Given the description of an element on the screen output the (x, y) to click on. 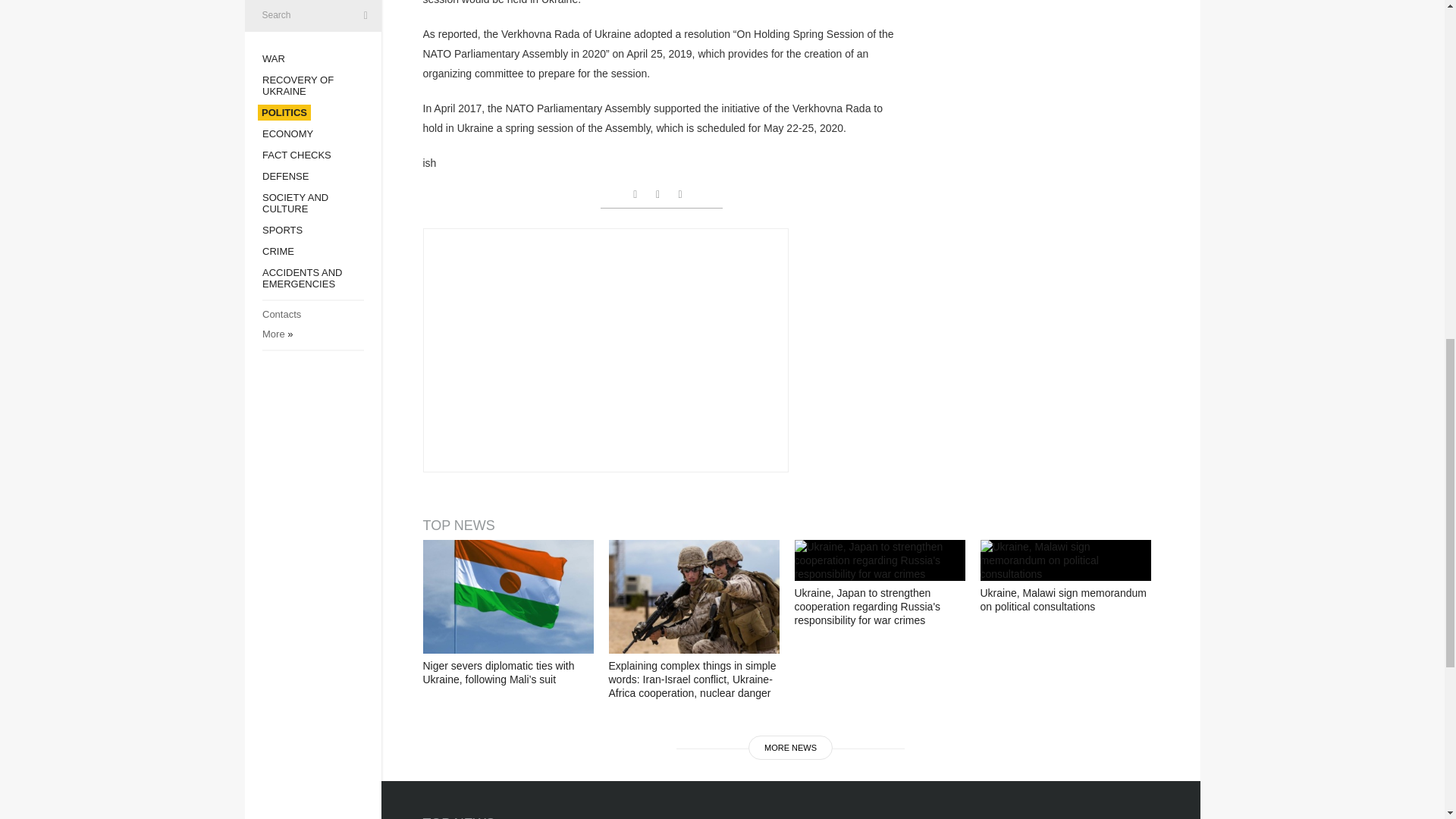
Ukraine, Malawi sign memorandum on political consultations (1064, 559)
